Given the description of an element on the screen output the (x, y) to click on. 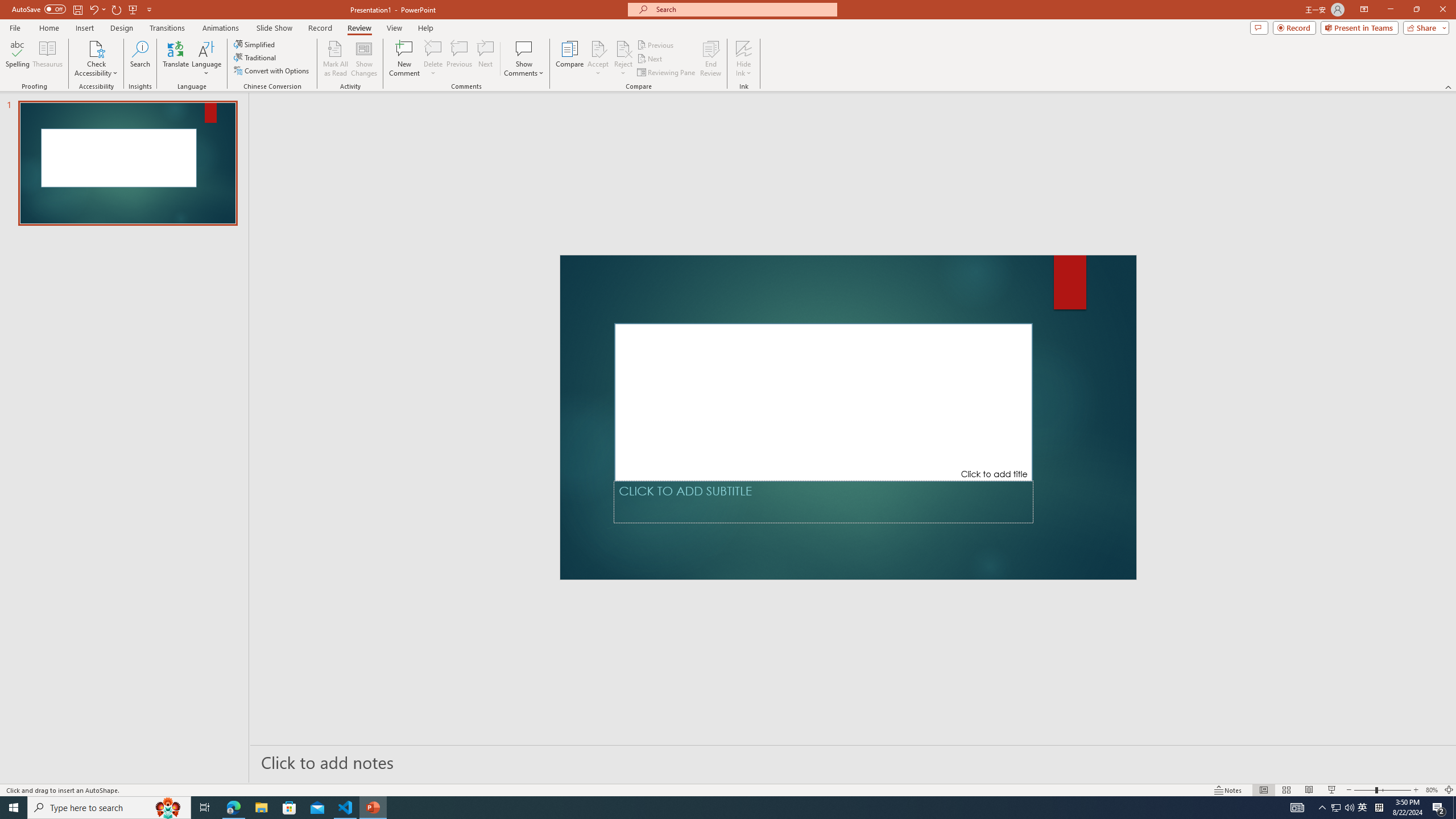
Redo (117, 9)
Reading View (1308, 790)
Normal (1263, 790)
